Given the description of an element on the screen output the (x, y) to click on. 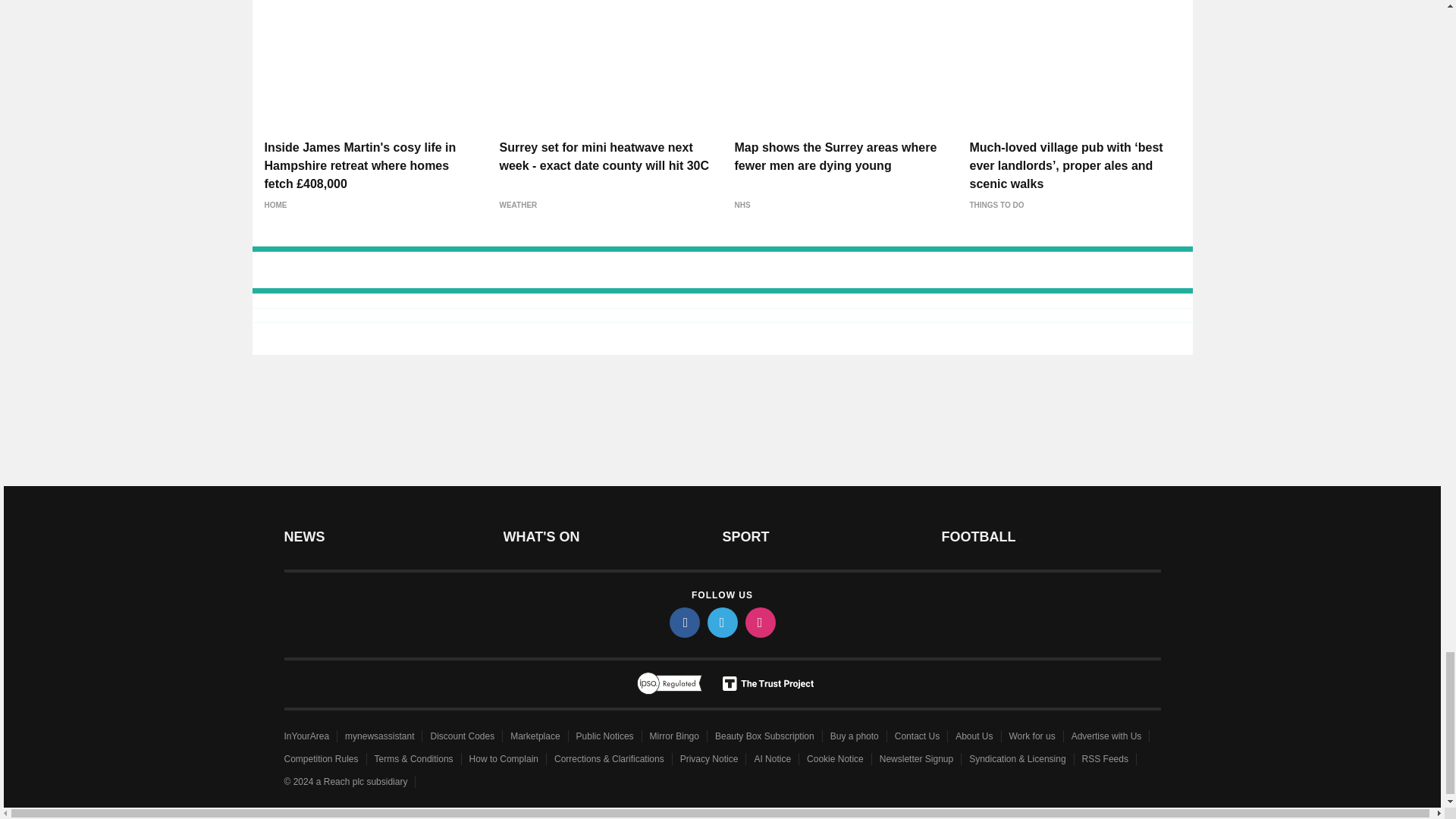
twitter (721, 622)
facebook (683, 622)
instagram (759, 622)
